Given the description of an element on the screen output the (x, y) to click on. 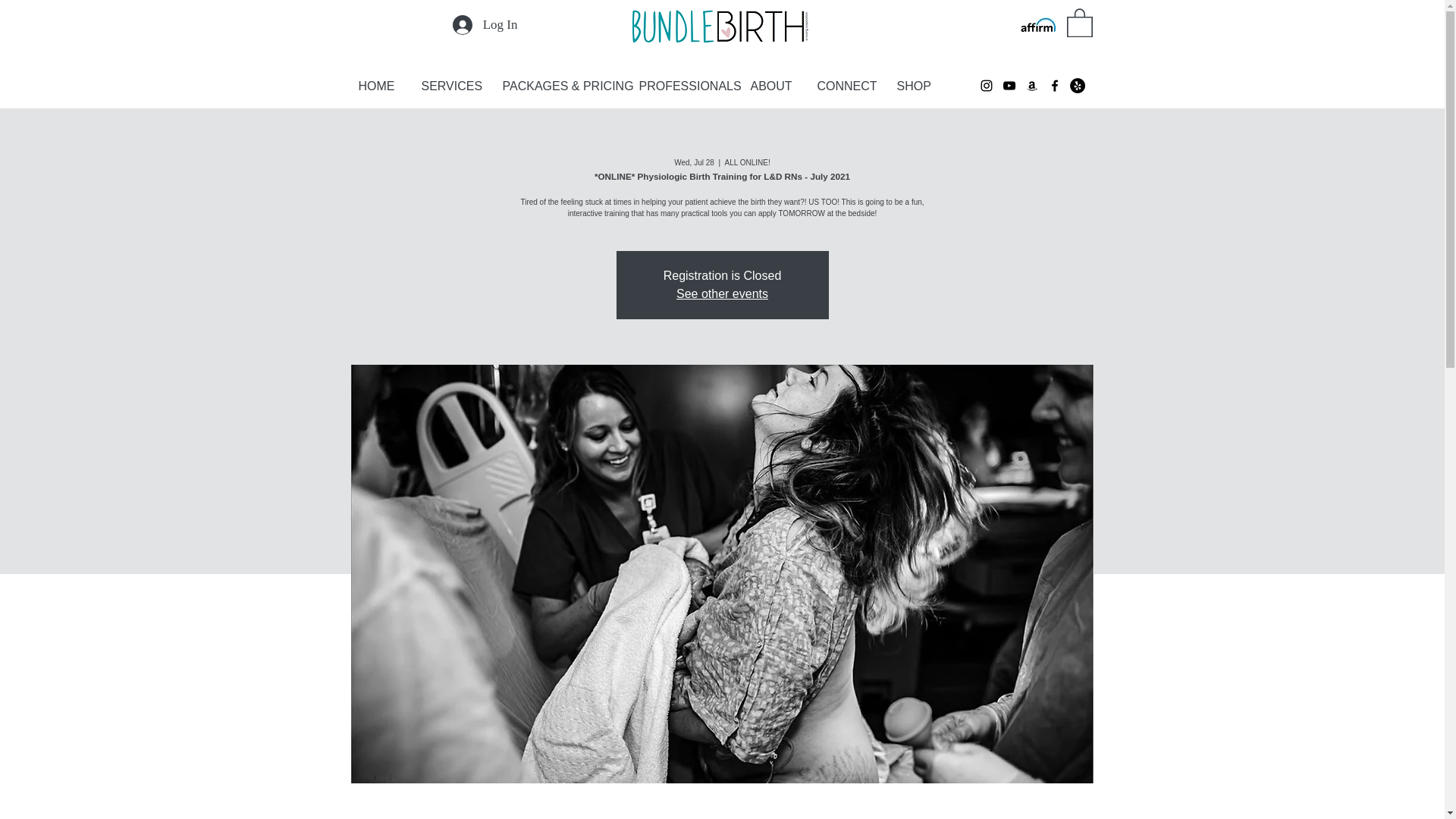
PROFESSIONALS (686, 86)
CONNECT (849, 86)
See other events (722, 293)
Log In (485, 24)
HOME (381, 86)
ABOUT (775, 86)
SHOP (918, 86)
SERVICES (454, 86)
